Given the description of an element on the screen output the (x, y) to click on. 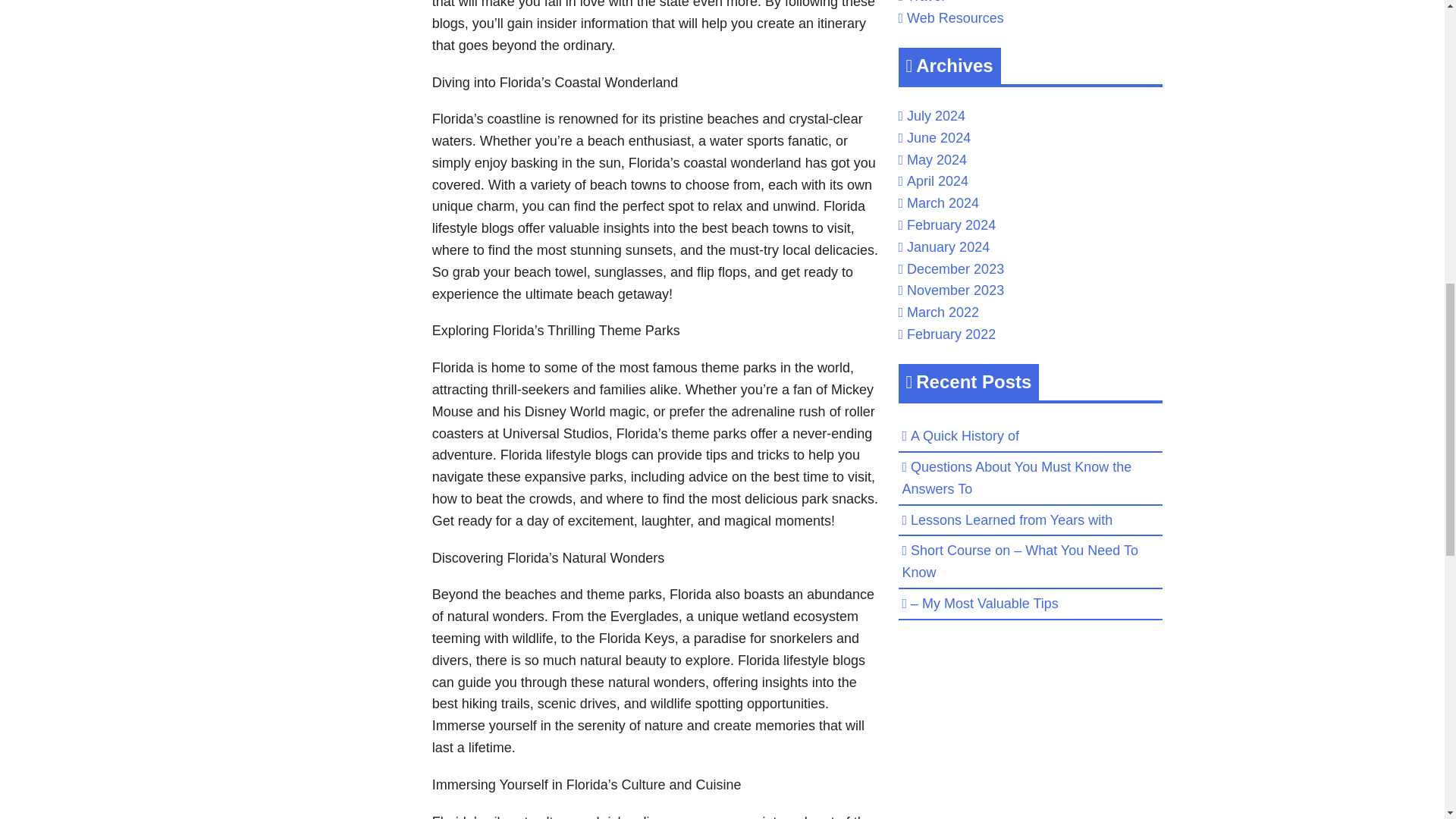
Web Resources (955, 17)
Travel (925, 2)
